Given the description of an element on the screen output the (x, y) to click on. 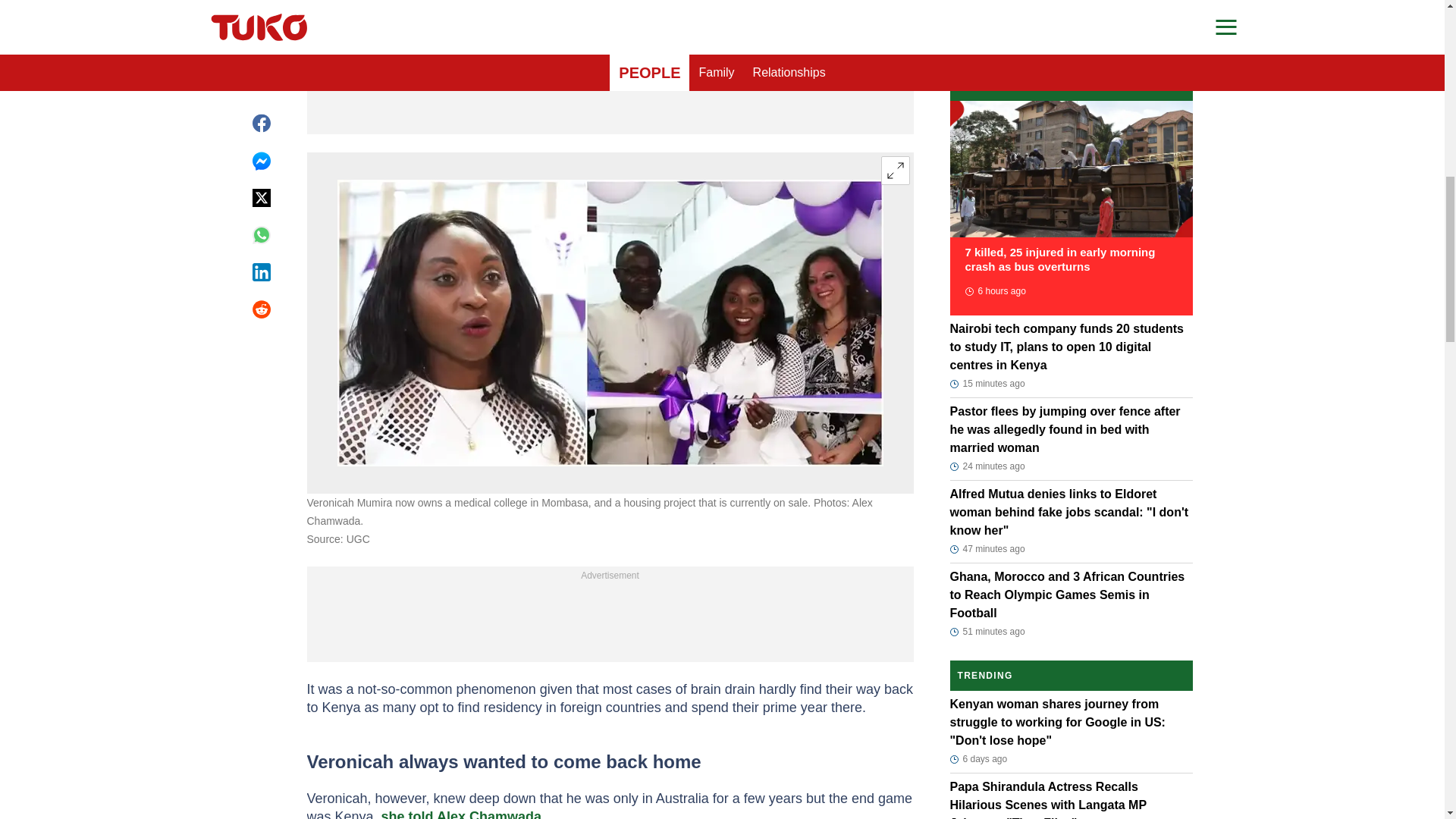
Expand image (895, 170)
